Given the description of an element on the screen output the (x, y) to click on. 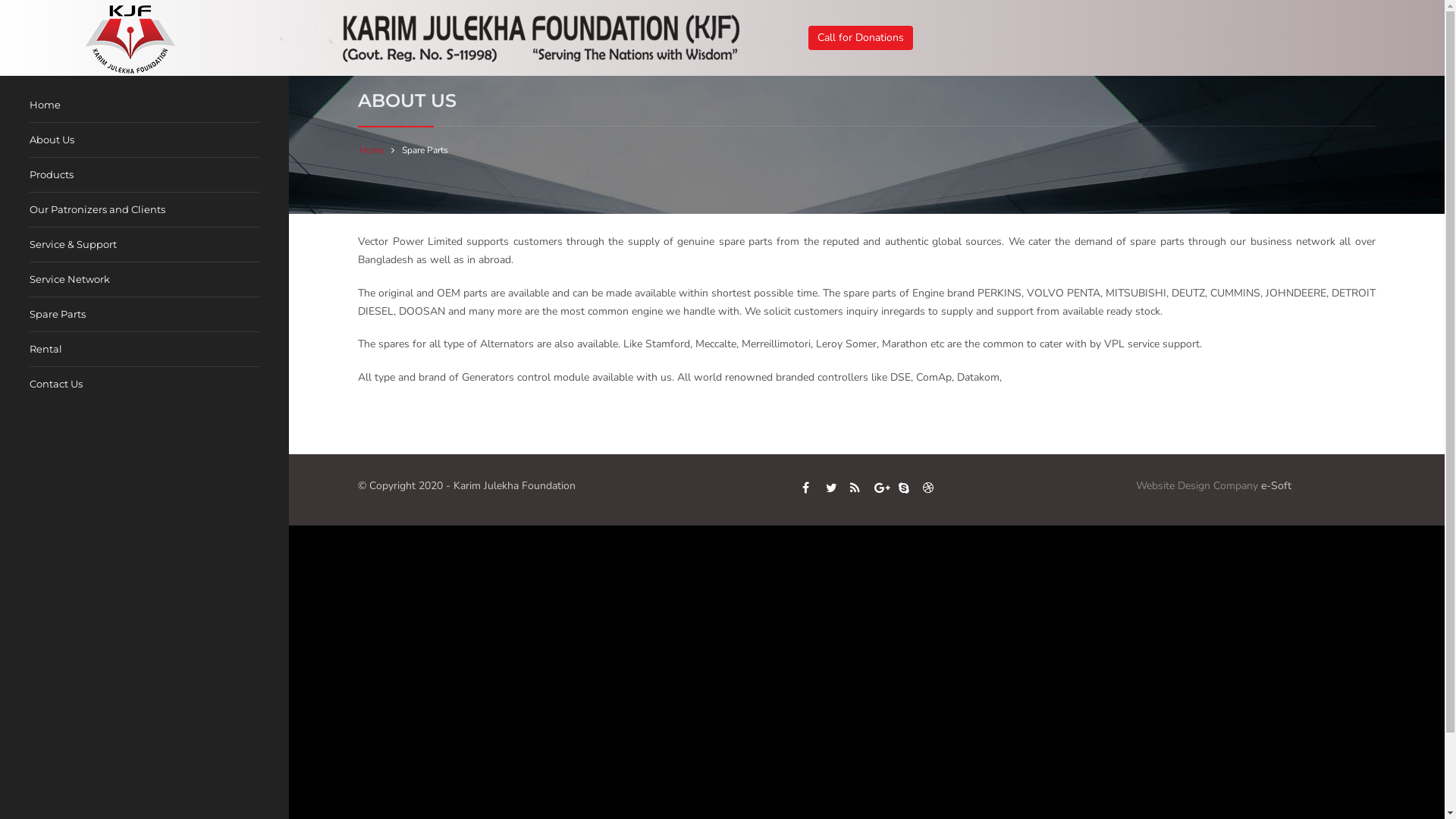
Contact Us Element type: text (55, 383)
About Us Element type: text (59, 139)
Rental Element type: text (53, 348)
Call for Donations Element type: text (860, 37)
Website Design Company Element type: text (1198, 485)
Service & Support Element type: text (80, 244)
Home Element type: text (52, 104)
Home Element type: text (371, 150)
Service Network Element type: text (77, 279)
Our Patronizers and Clients Element type: text (104, 209)
Products Element type: text (58, 174)
Spare Parts Element type: text (64, 314)
